Given the description of an element on the screen output the (x, y) to click on. 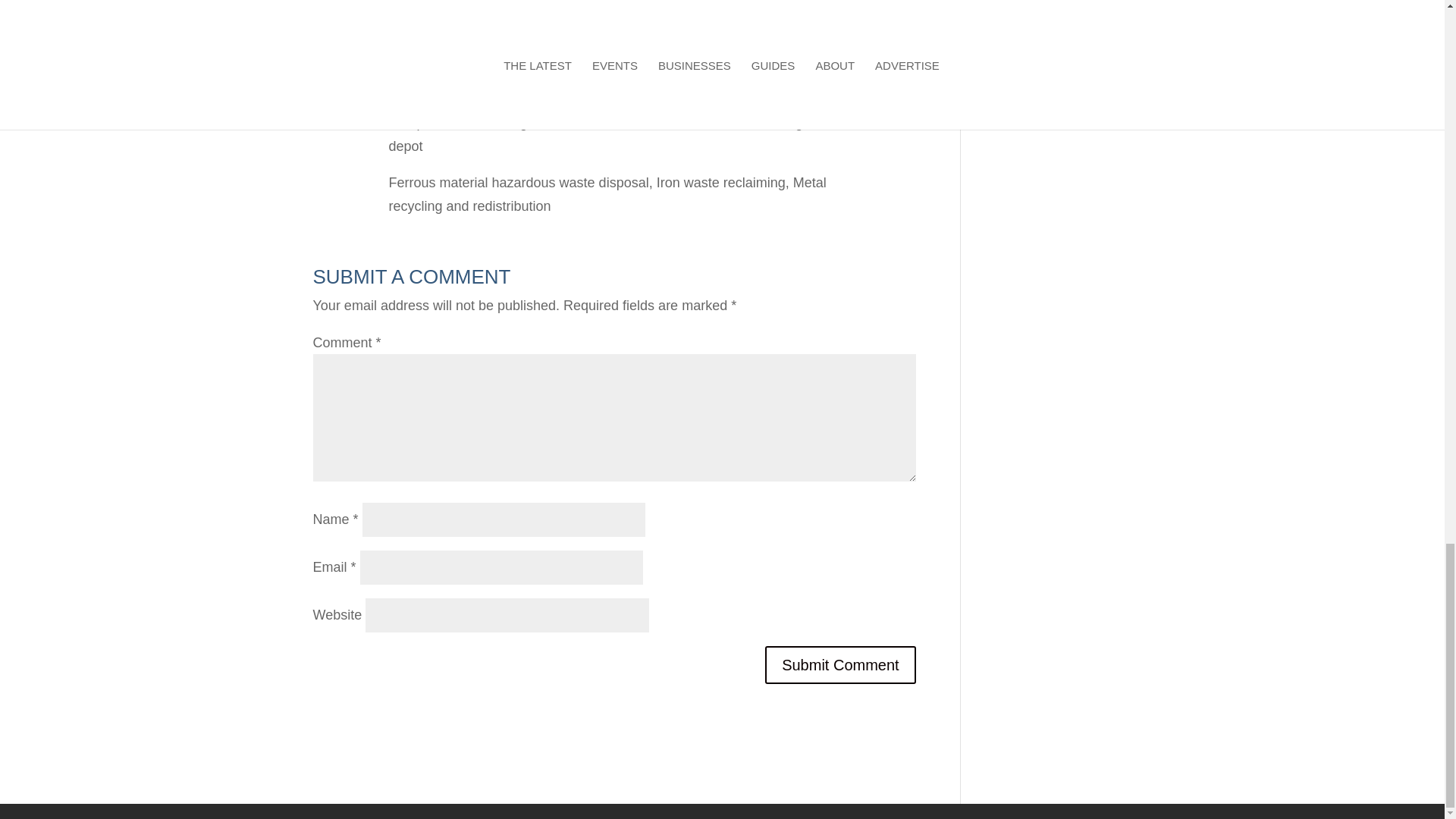
Ferrous metal contracts (660, 122)
Submit Comment (840, 664)
Iron scrap yard (432, 93)
Ferrous metal contracts (660, 122)
Submit Comment (840, 664)
